Given the description of an element on the screen output the (x, y) to click on. 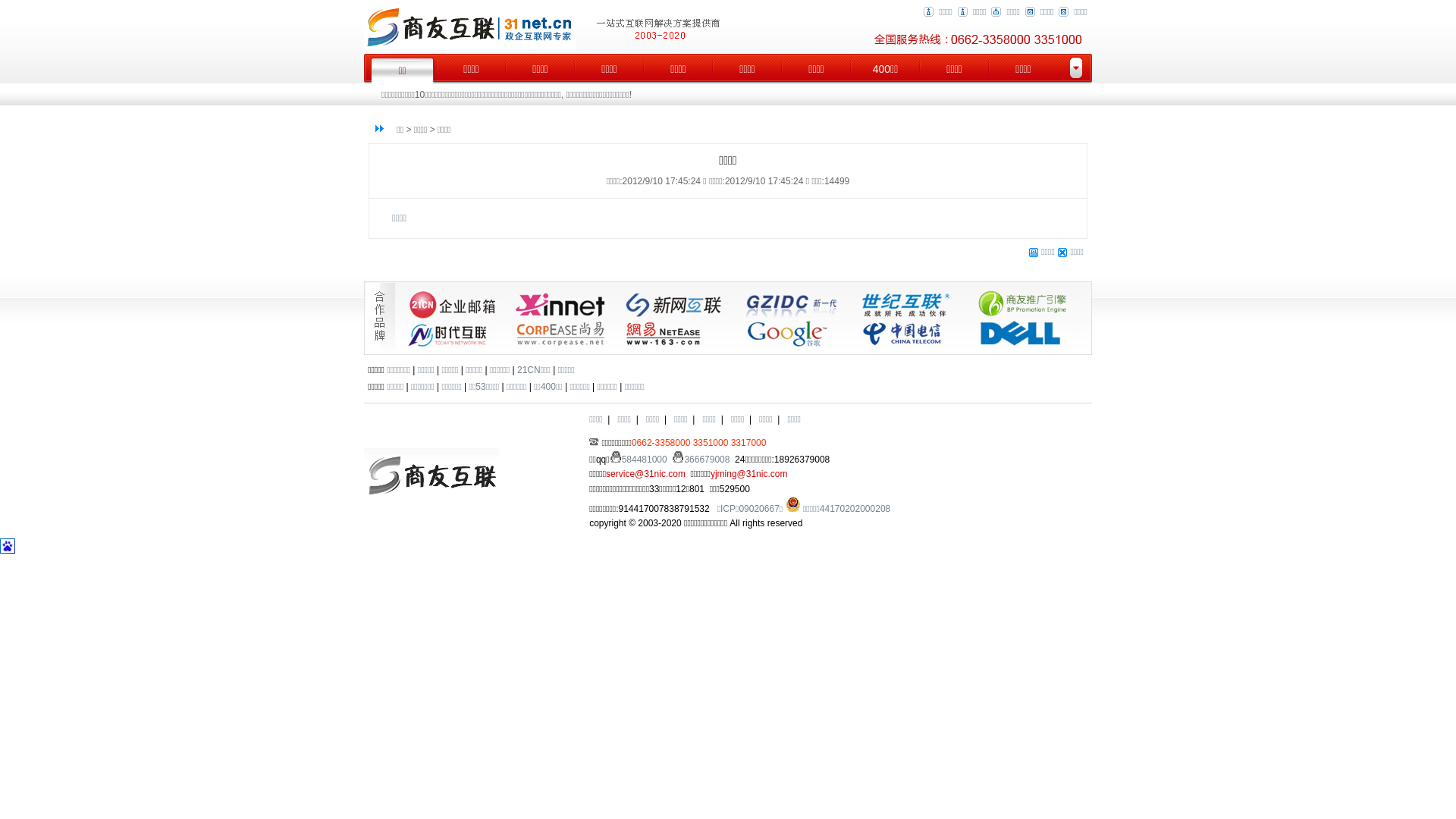
584481000 Element type: text (638, 459)
366679008 Element type: text (700, 459)
